Given the description of an element on the screen output the (x, y) to click on. 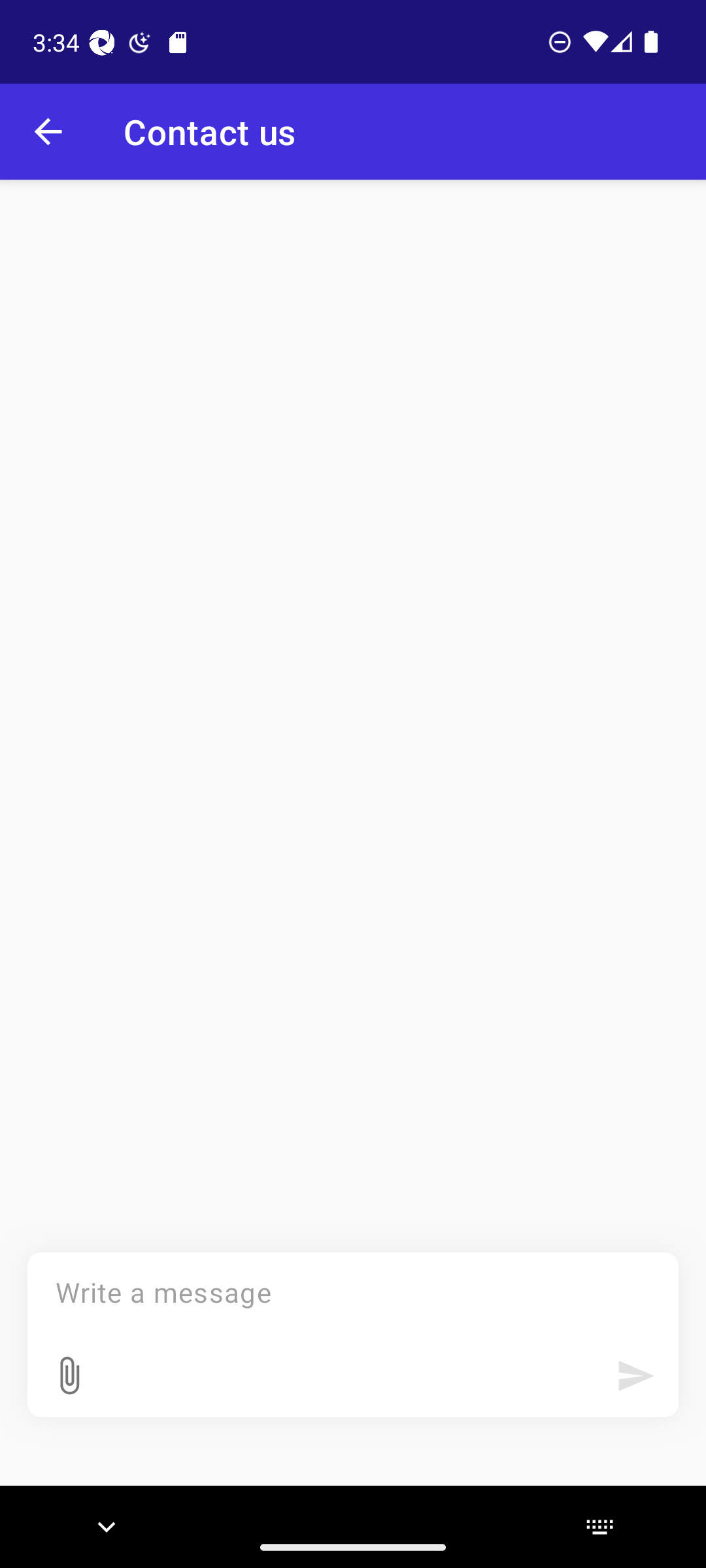
Navigate up (48, 131)
Write a message (352, 1334)
Send (635, 1375)
